Given the description of an element on the screen output the (x, y) to click on. 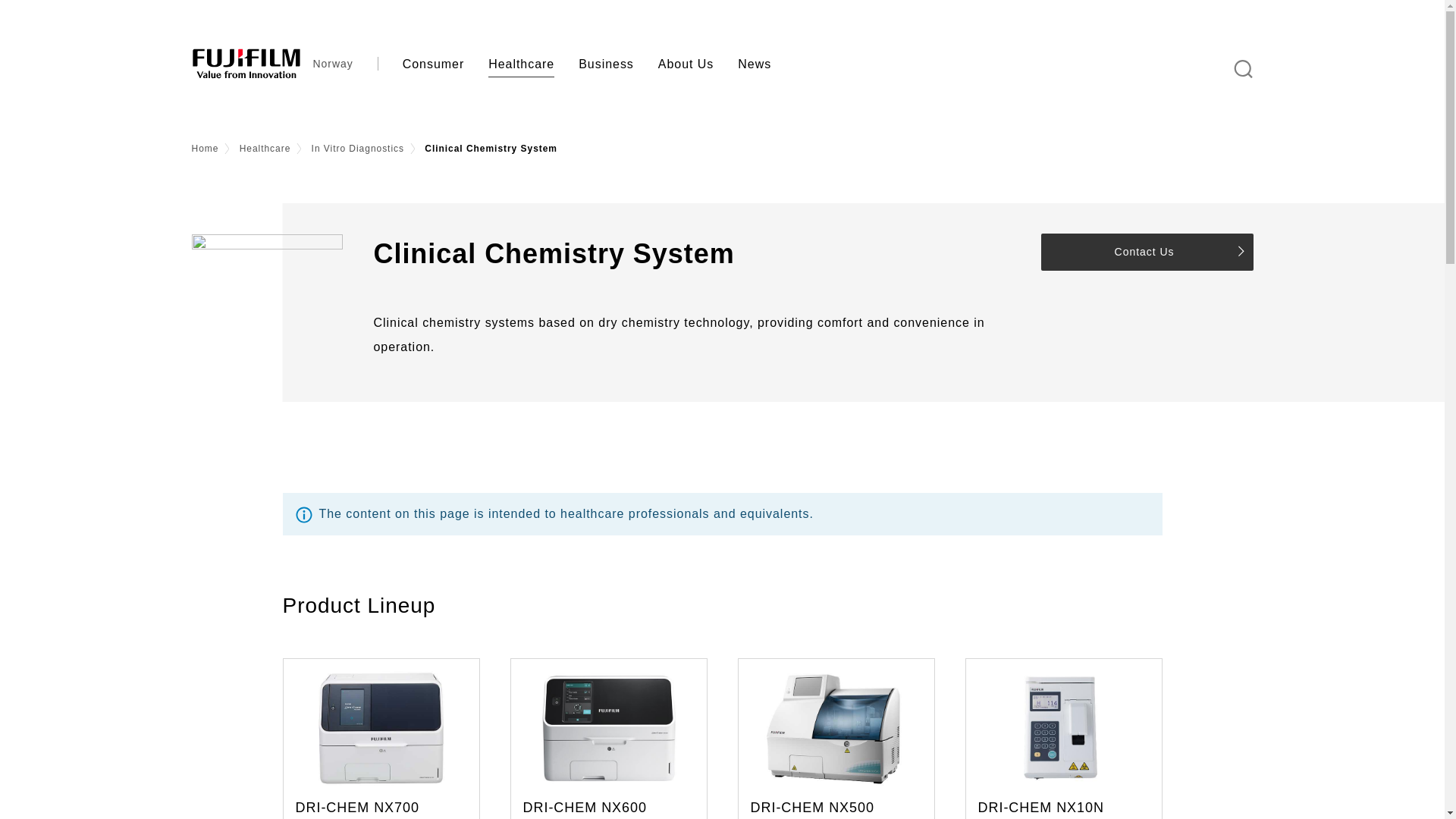
Consumer (433, 63)
Business (606, 63)
Healthcare (521, 63)
About Us (686, 63)
